Given the description of an element on the screen output the (x, y) to click on. 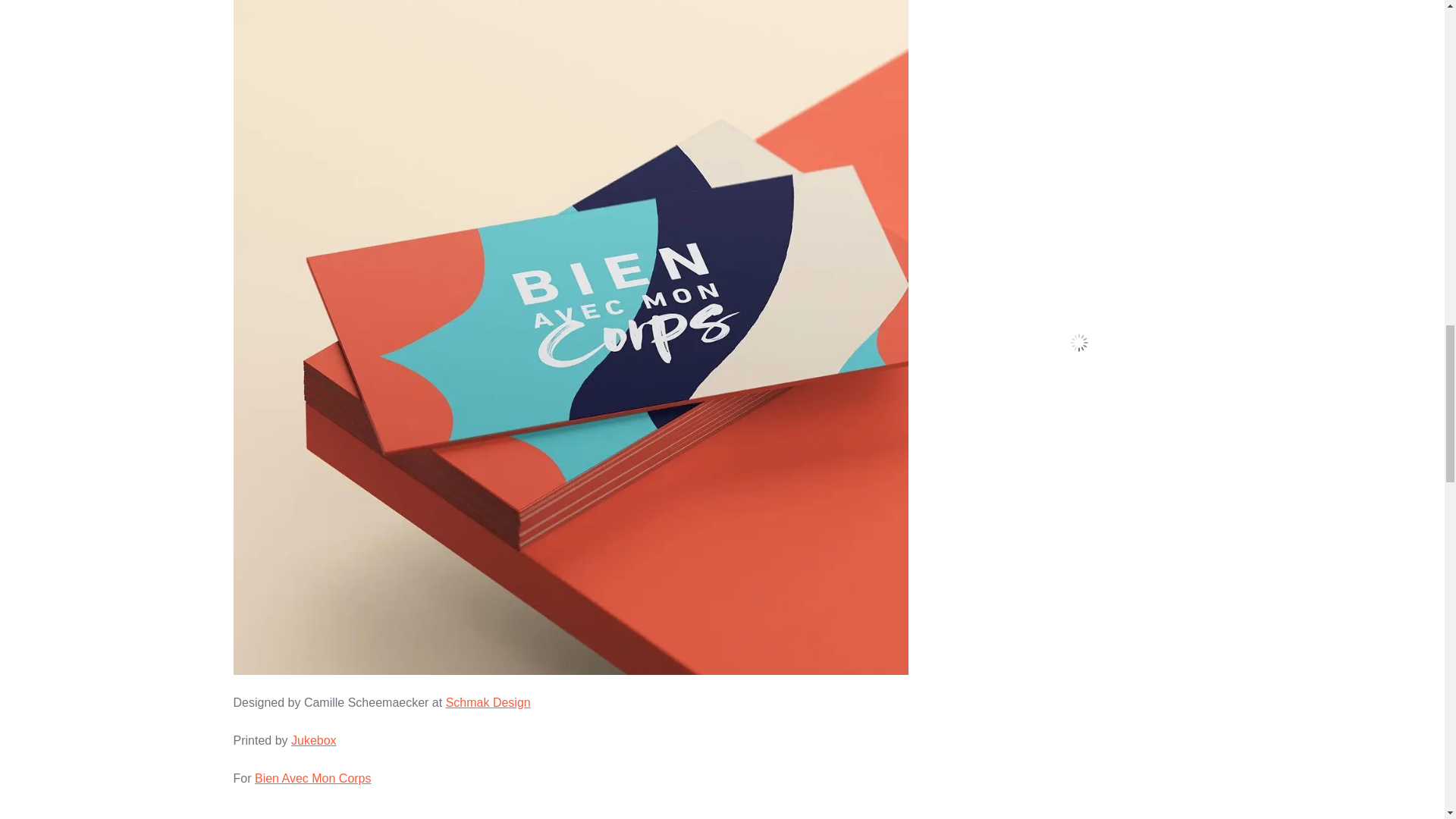
Arutza Studio (1079, 464)
Kate Walsham (1079, 562)
Hue Studio (1079, 219)
Atry Design Studio (1079, 415)
Nicole Groff (1079, 611)
Estudio Albino (1079, 317)
Nicolas Cessieux (1079, 98)
Eva (1079, 512)
Giada Tamborrino (1079, 659)
Florian Gallou (1079, 367)
Estudio Wikka (1079, 268)
